Given the description of an element on the screen output the (x, y) to click on. 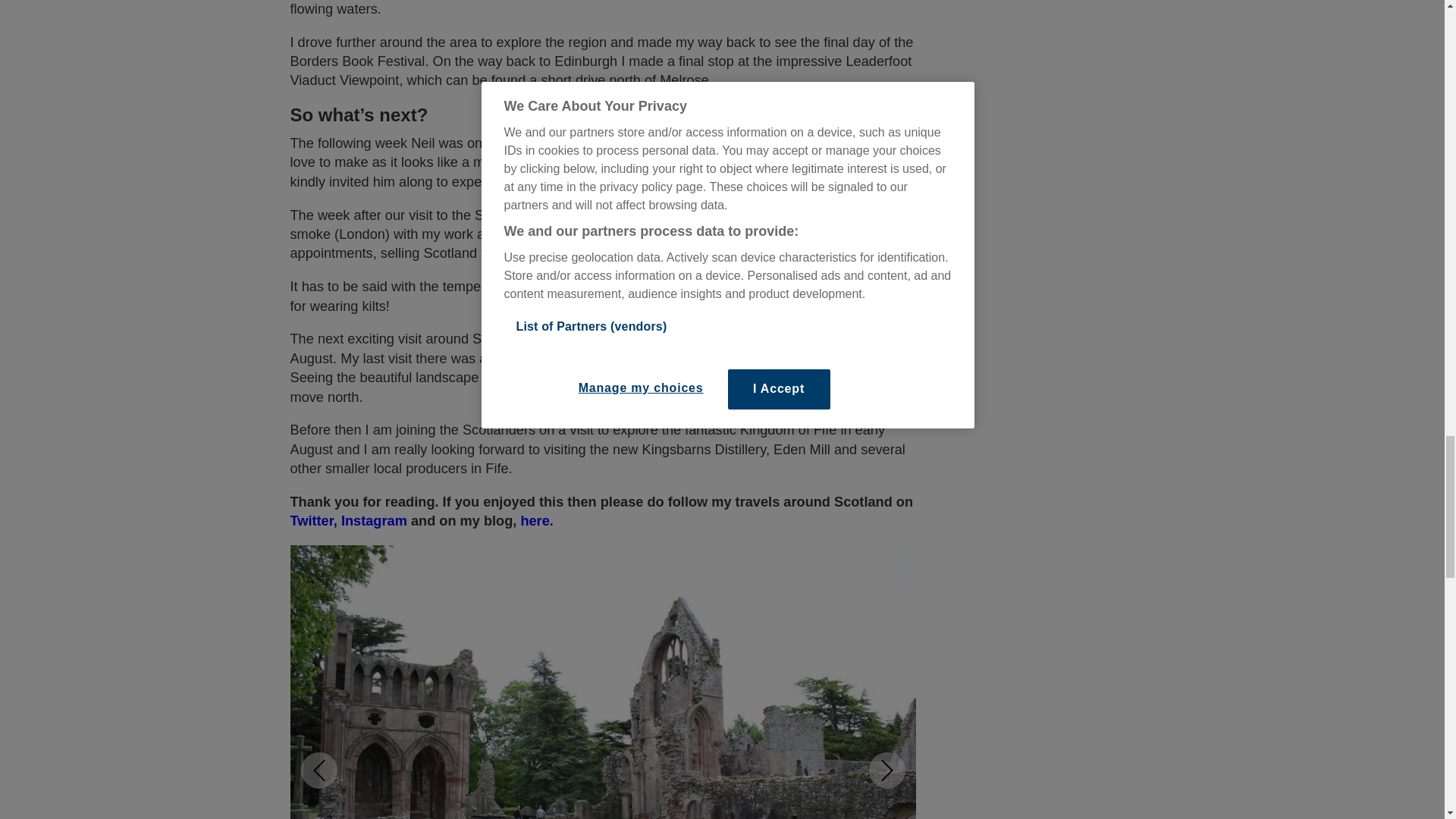
Next Slide (887, 770)
Previous Slide (317, 770)
